Given the description of an element on the screen output the (x, y) to click on. 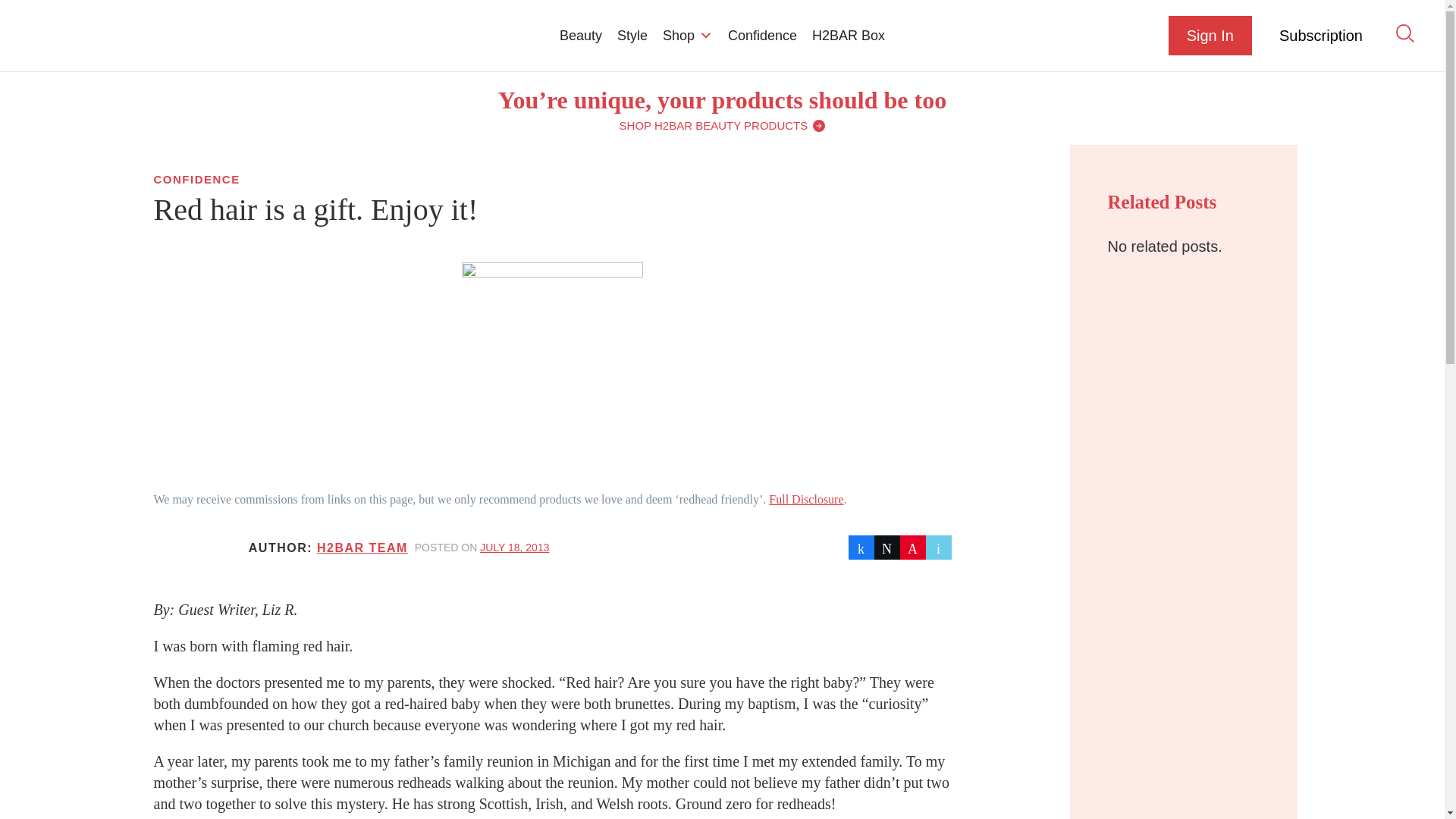
Style (632, 35)
Sign In (1210, 35)
Full Disclosure (805, 499)
H2BAR Box (848, 35)
Sign In (1210, 35)
Confidence archive (196, 178)
Beauty (580, 35)
Confidence (762, 35)
Shop (687, 35)
